Given the description of an element on the screen output the (x, y) to click on. 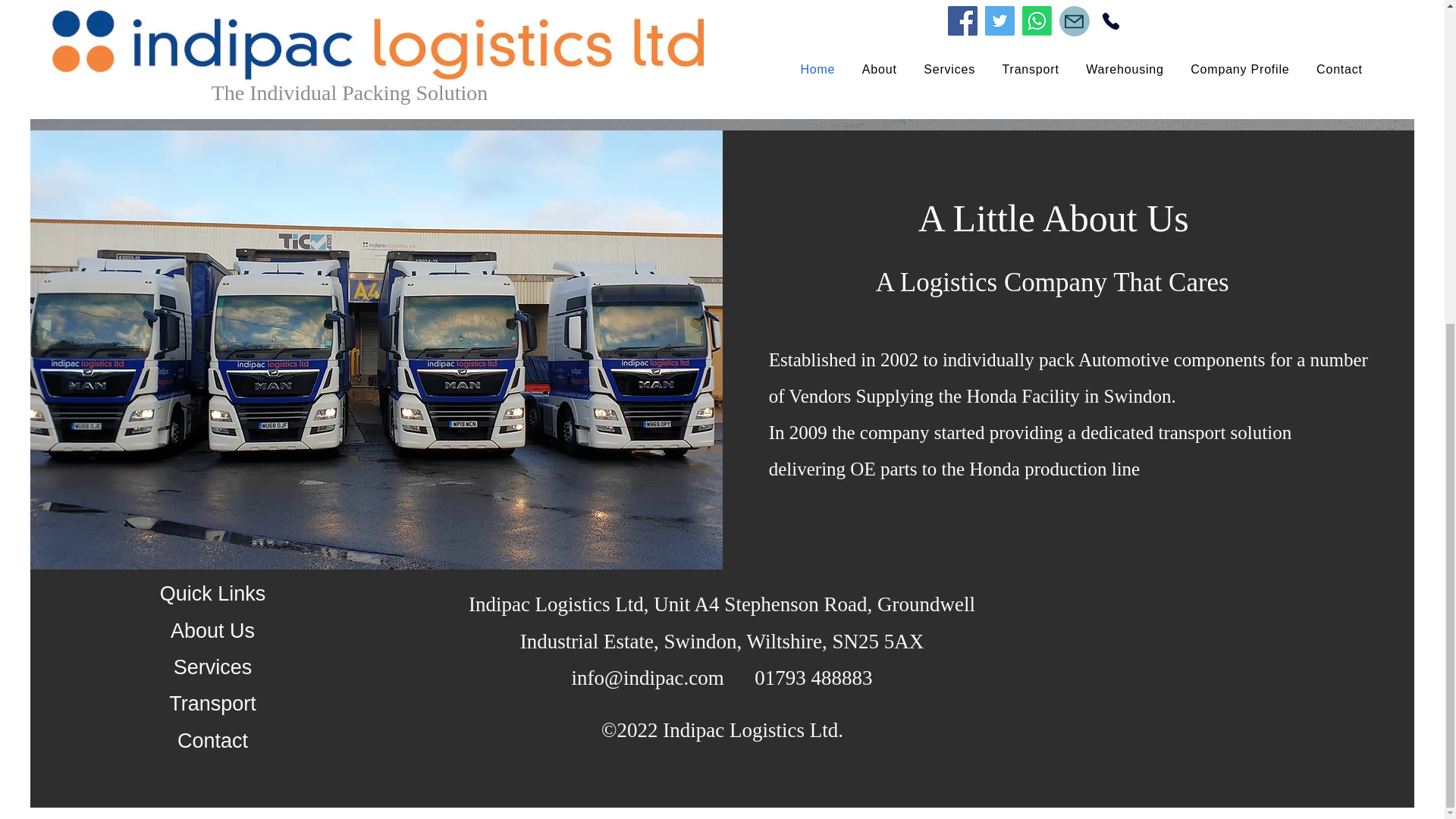
Transport (212, 703)
Services (212, 667)
About Us (212, 630)
Contact (212, 740)
